Given the description of an element on the screen output the (x, y) to click on. 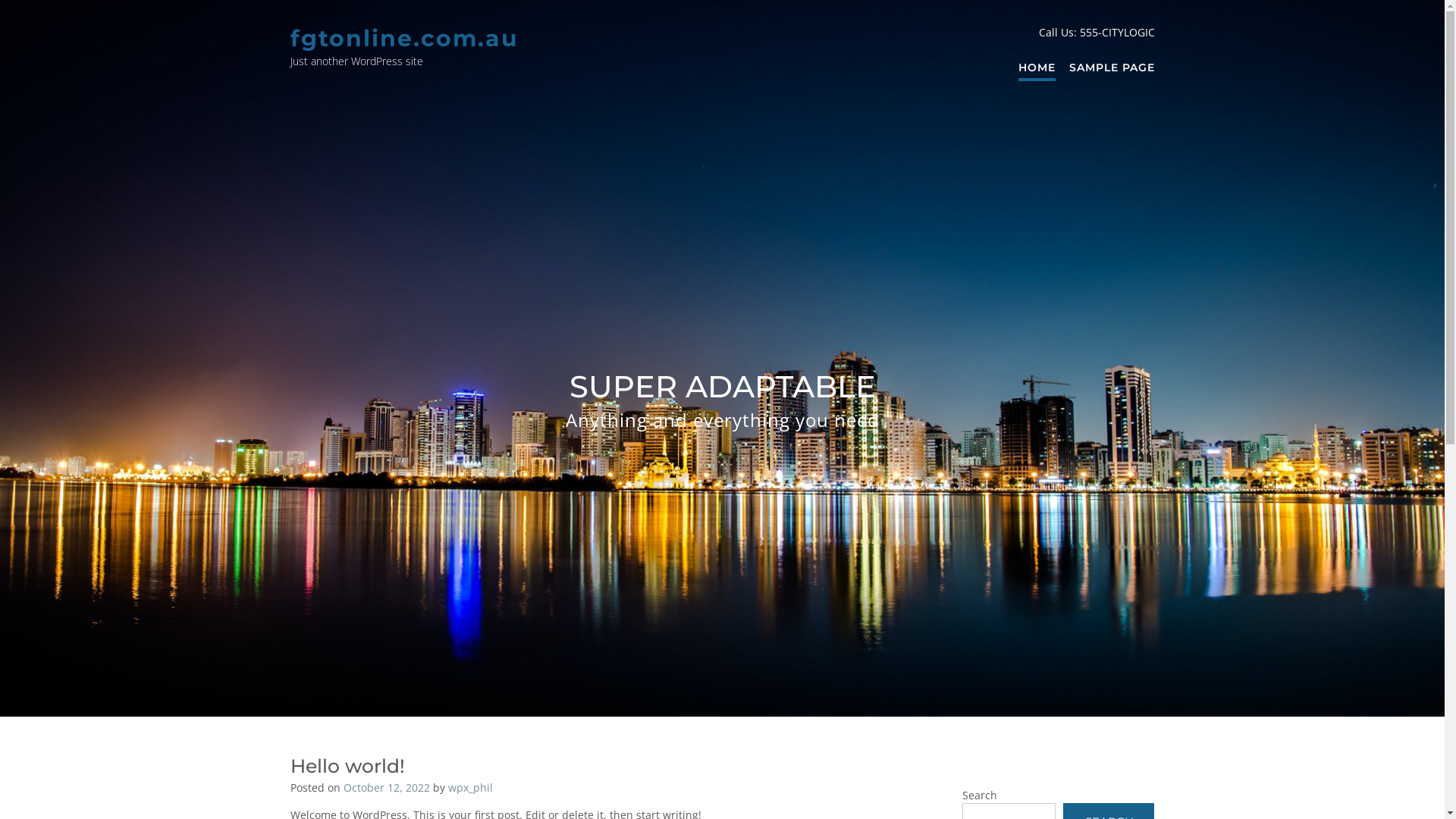
Hello world! Element type: text (346, 765)
October 12, 2022 Element type: text (385, 787)
SAMPLE PAGE Element type: text (1111, 67)
wpx_phil Element type: text (469, 787)
HOME Element type: text (1035, 67)
fgtonline.com.au Element type: text (403, 38)
